Given the description of an element on the screen output the (x, y) to click on. 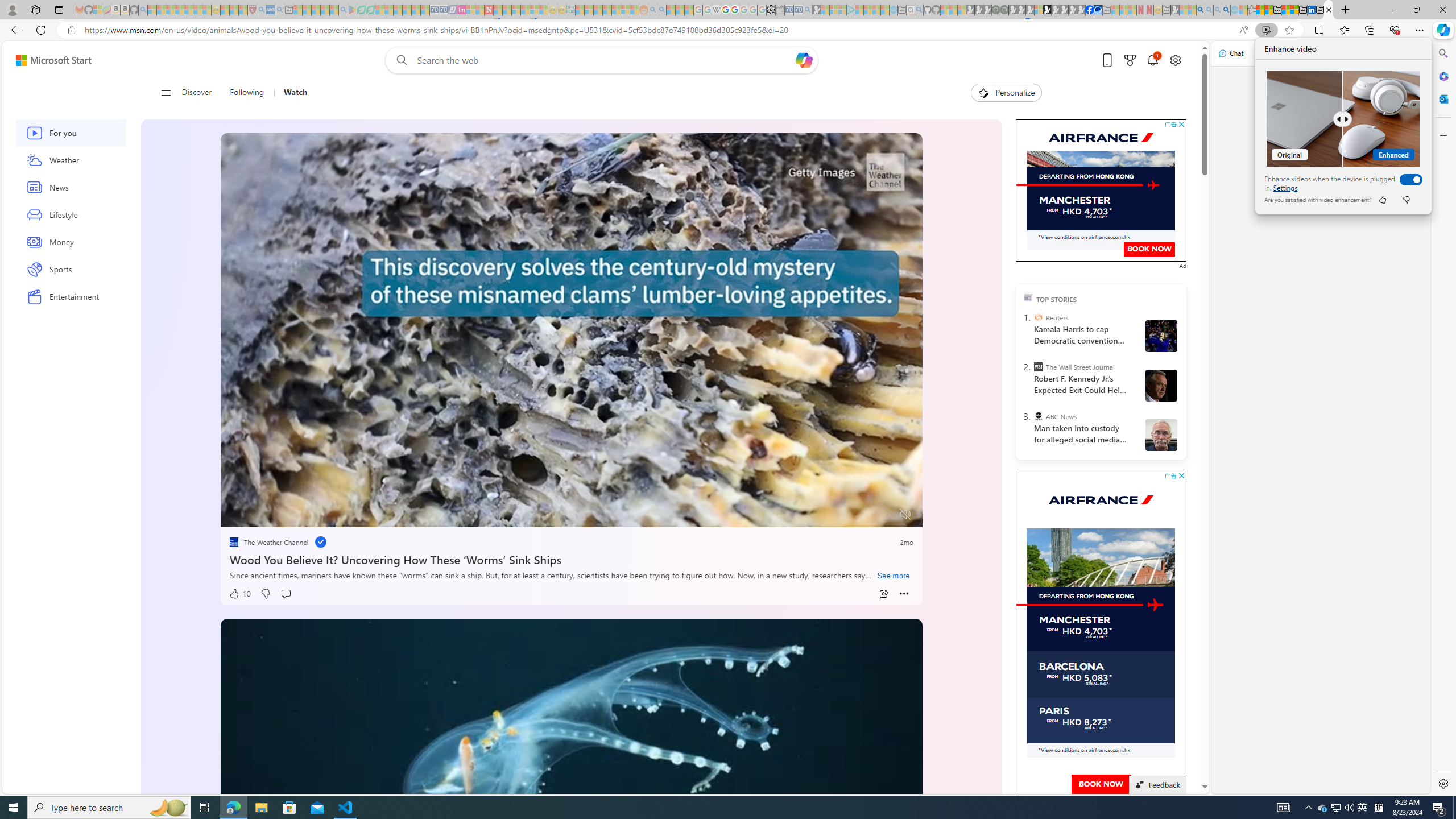
Quality Settings (838, 514)
Open settings (1175, 60)
Like (1382, 199)
Aberdeen, Hong Kong SAR weather forecast | Microsoft Weather (1268, 9)
Reuters (1037, 316)
Enhance videos (1407, 179)
github - Search - Sleeping (919, 9)
dislike (1405, 199)
Utah sues federal government - Search - Sleeping (661, 9)
google - Search - Sleeping (1322, 807)
